Given the description of an element on the screen output the (x, y) to click on. 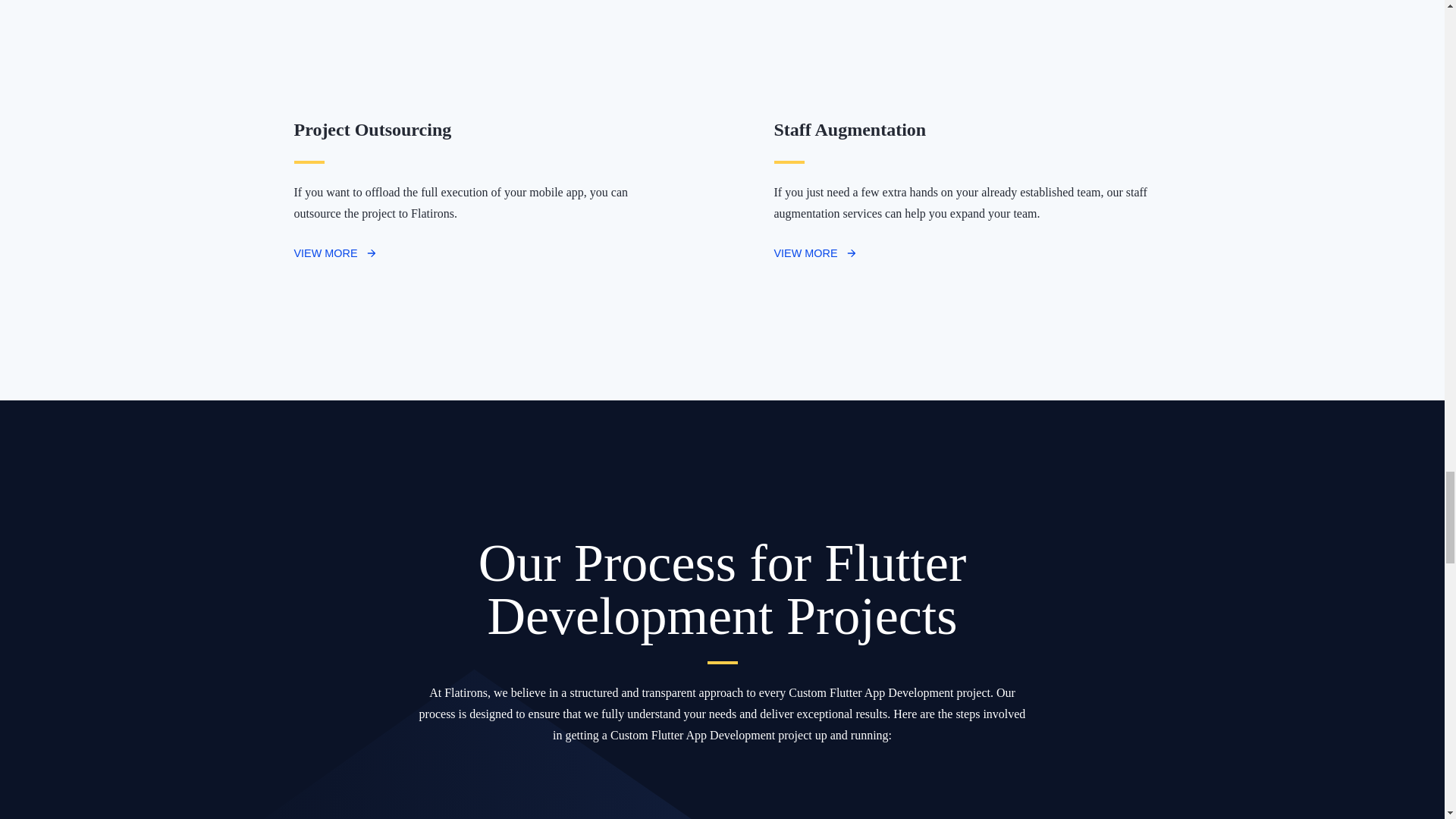
VIEW MORE (335, 252)
VIEW MORE (815, 252)
